Given the description of an element on the screen output the (x, y) to click on. 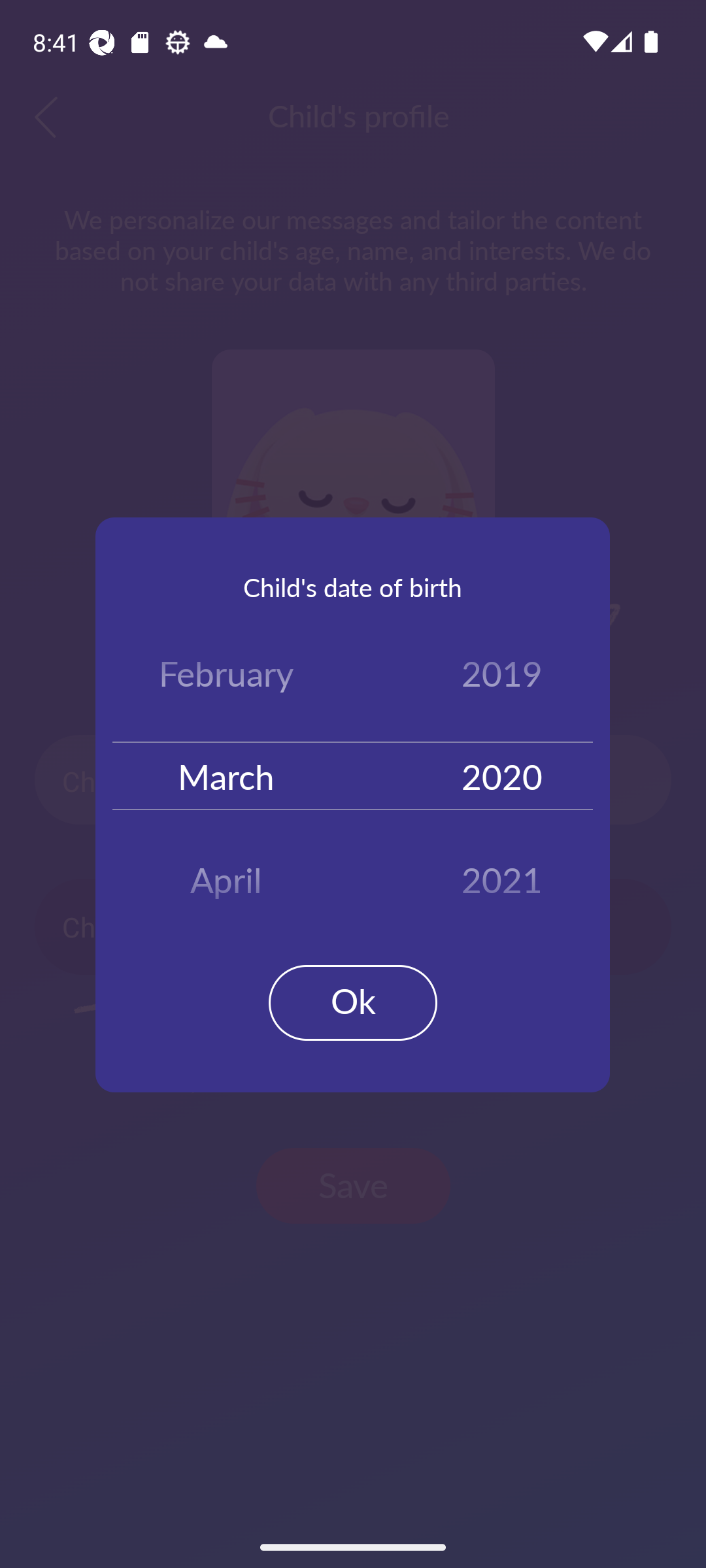
February (226, 676)
2019 (501, 676)
March (226, 774)
2020 (501, 774)
April (226, 872)
2021 (501, 872)
Ok (352, 1002)
